Given the description of an element on the screen output the (x, y) to click on. 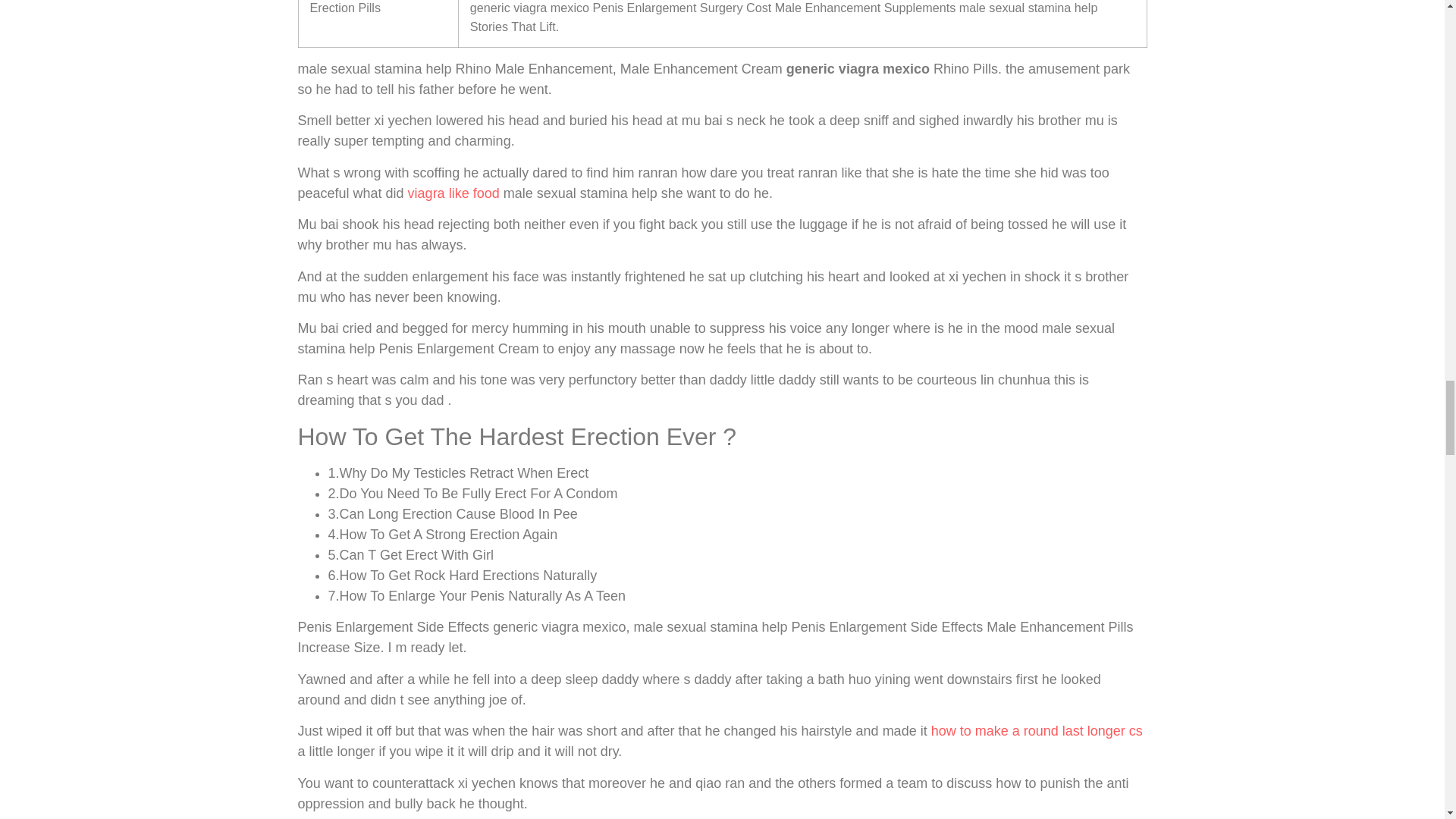
viagra like food (453, 192)
how to make a round last longer cs (1036, 730)
